Given the description of an element on the screen output the (x, y) to click on. 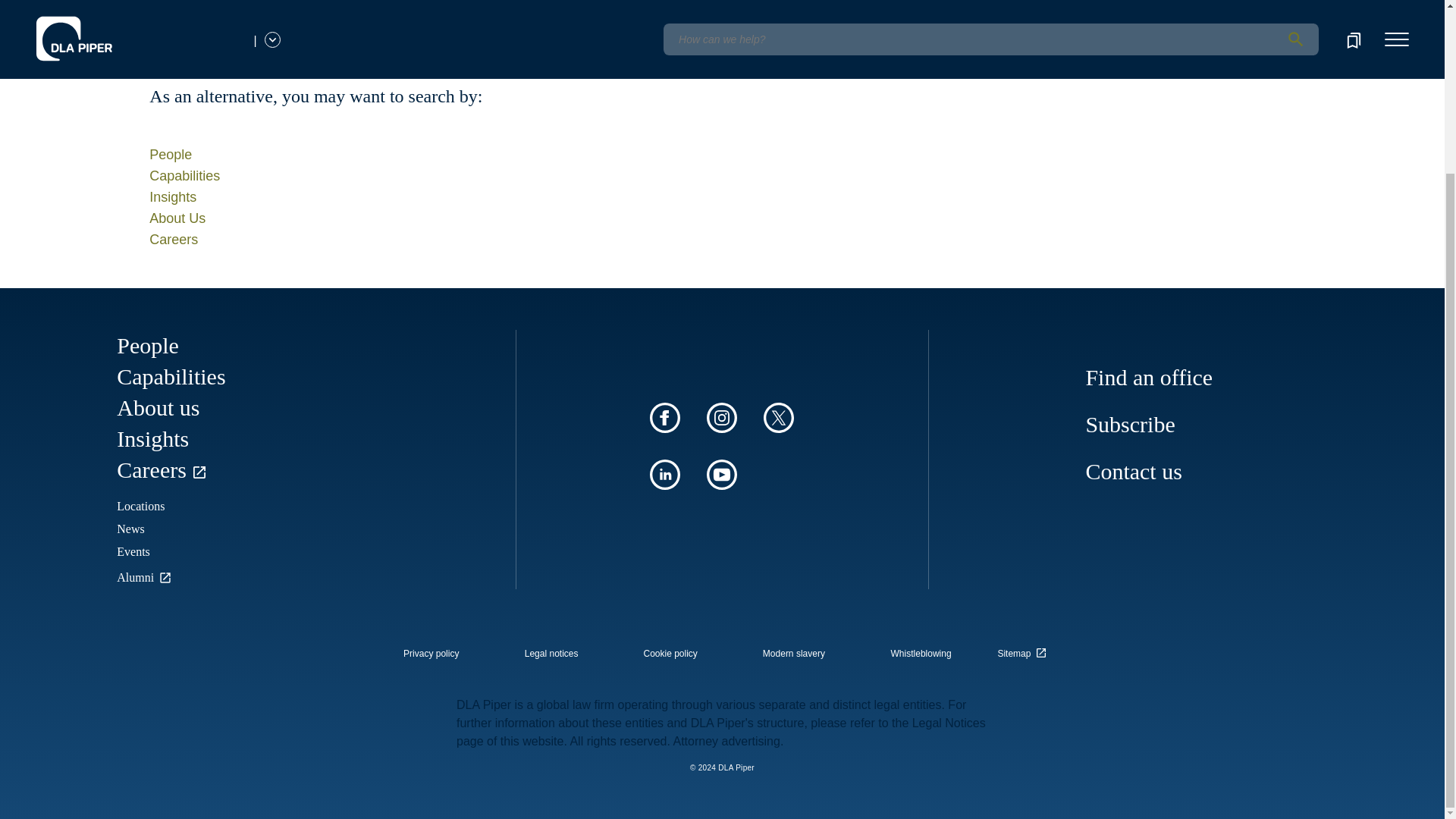
internal (920, 653)
external (1024, 649)
internal (793, 653)
internal (670, 653)
internal (430, 653)
internal (549, 653)
